Given the description of an element on the screen output the (x, y) to click on. 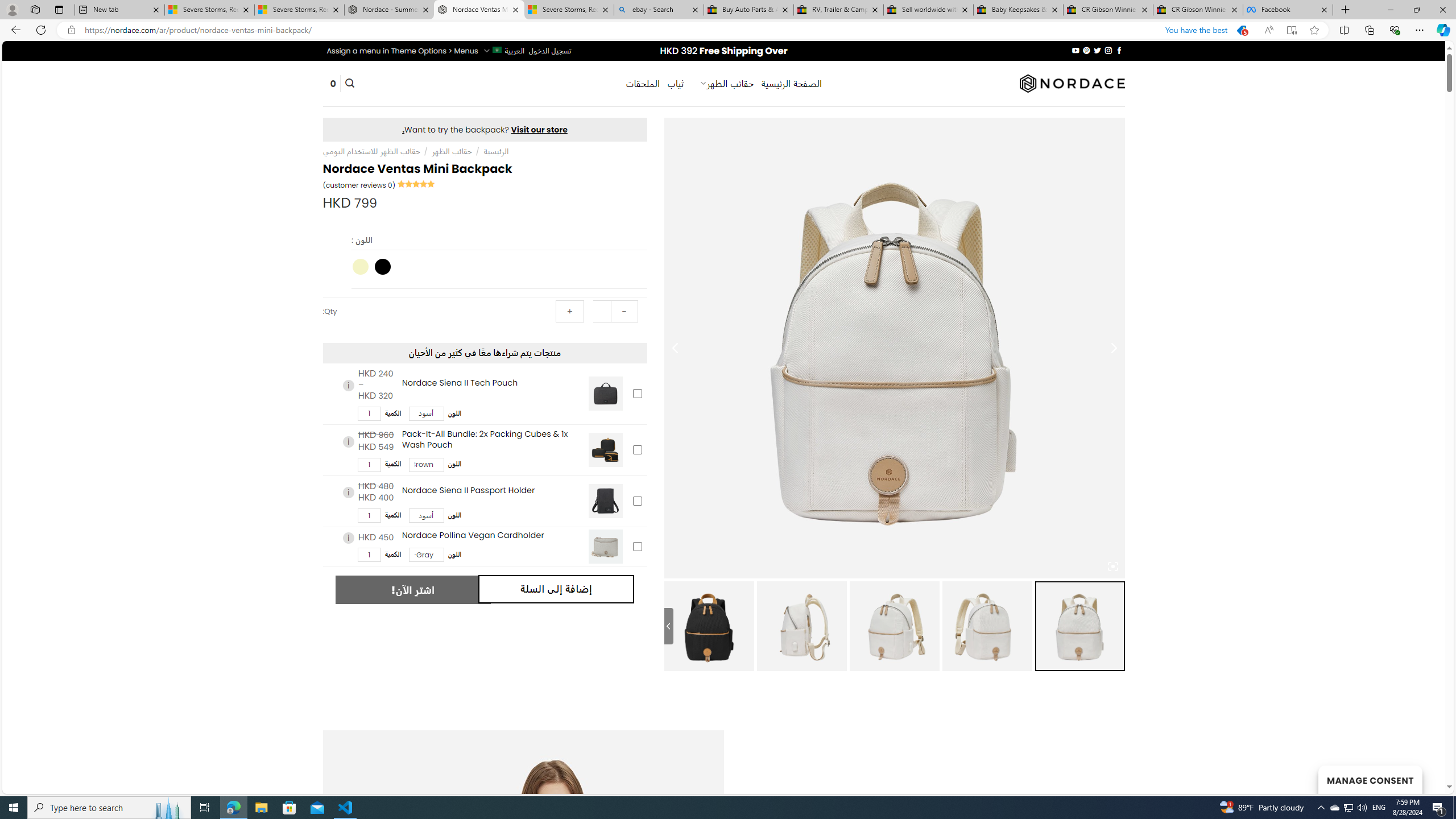
Enter Immersive Reader (F9) (1291, 29)
i (347, 537)
